Given the description of an element on the screen output the (x, y) to click on. 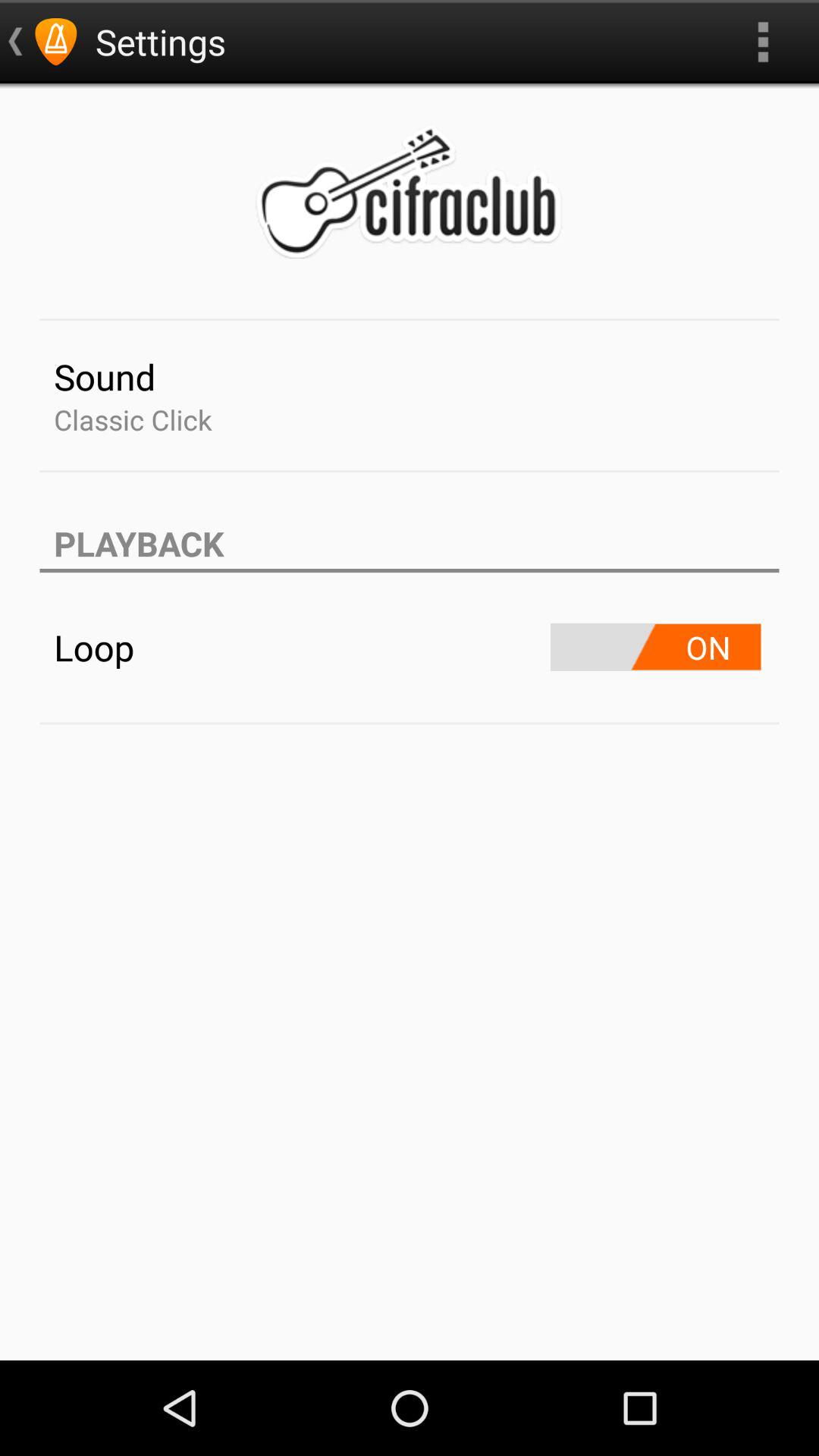
turn on (655, 647)
